Given the description of an element on the screen output the (x, y) to click on. 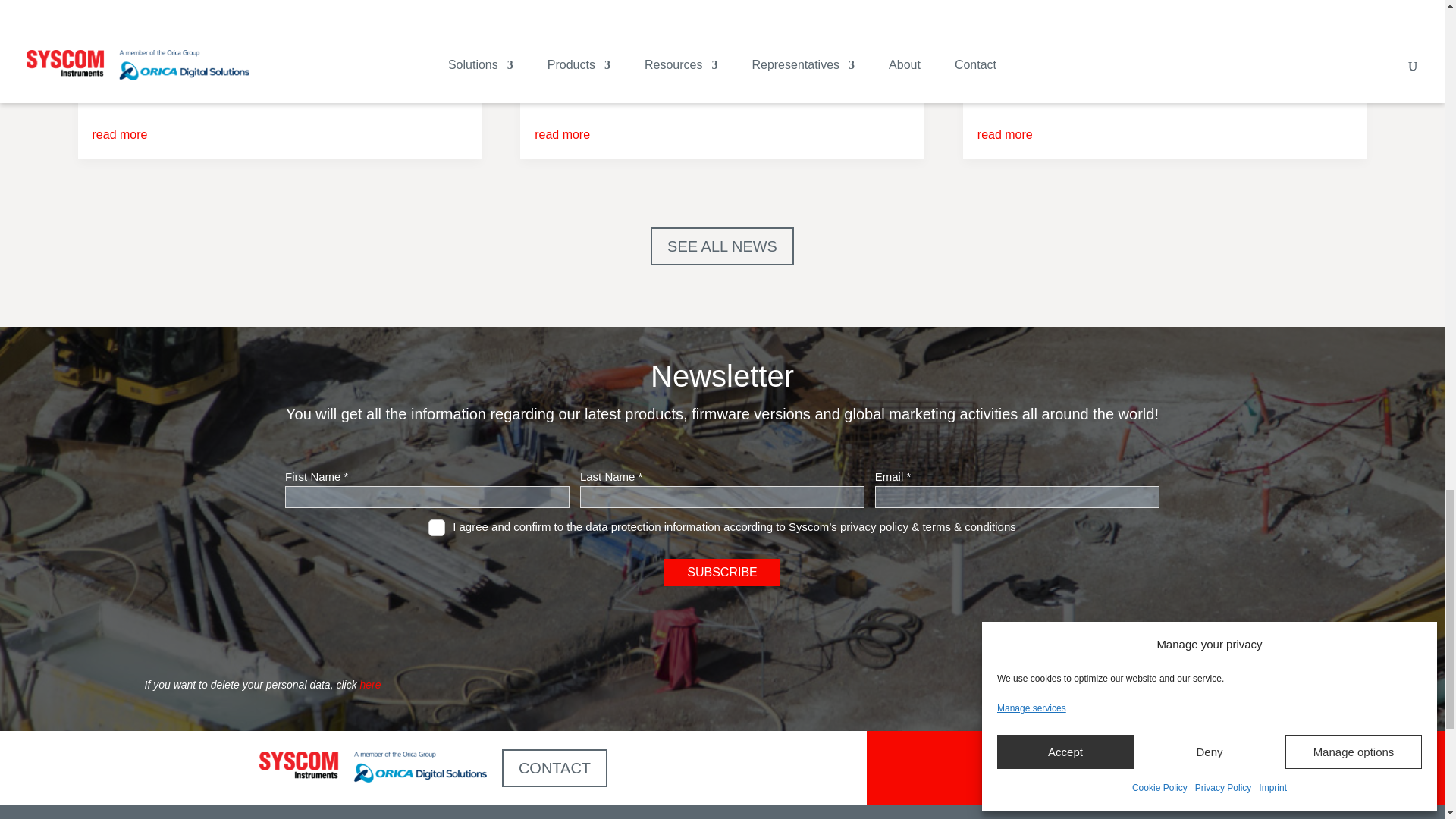
Syscom Linkedin Page (1275, 768)
Bartec Syscom YouTube Channel (1209, 768)
